Given the description of an element on the screen output the (x, y) to click on. 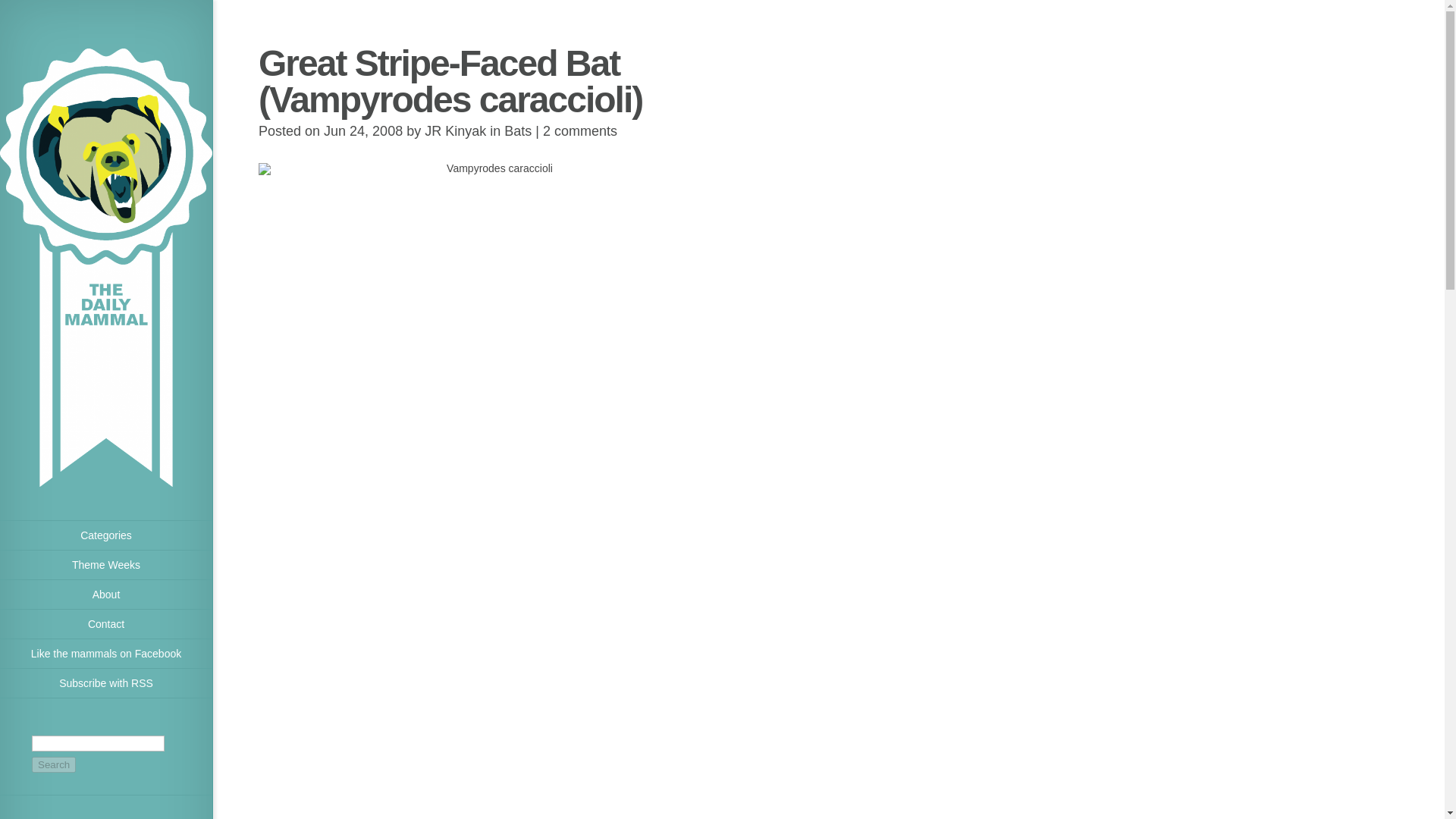
2 comments (580, 130)
Contact (106, 624)
Categories (106, 535)
About (106, 594)
JR Kinyak (455, 130)
Posts by JR Kinyak (455, 130)
Theme Weeks (106, 564)
Subscribe with RSS (106, 683)
Search (53, 764)
Search (53, 764)
